Given the description of an element on the screen output the (x, y) to click on. 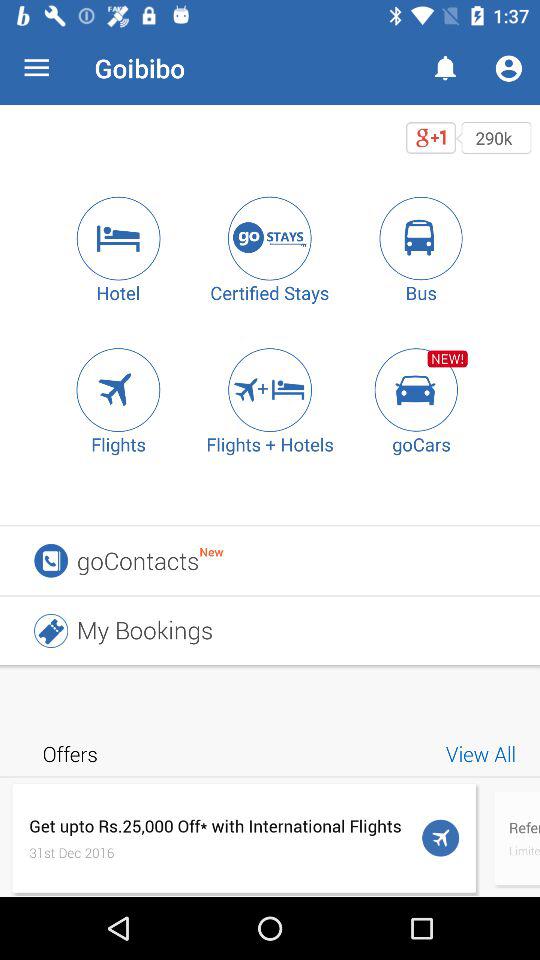
tap item to the right of the certified stays (421, 238)
